Given the description of an element on the screen output the (x, y) to click on. 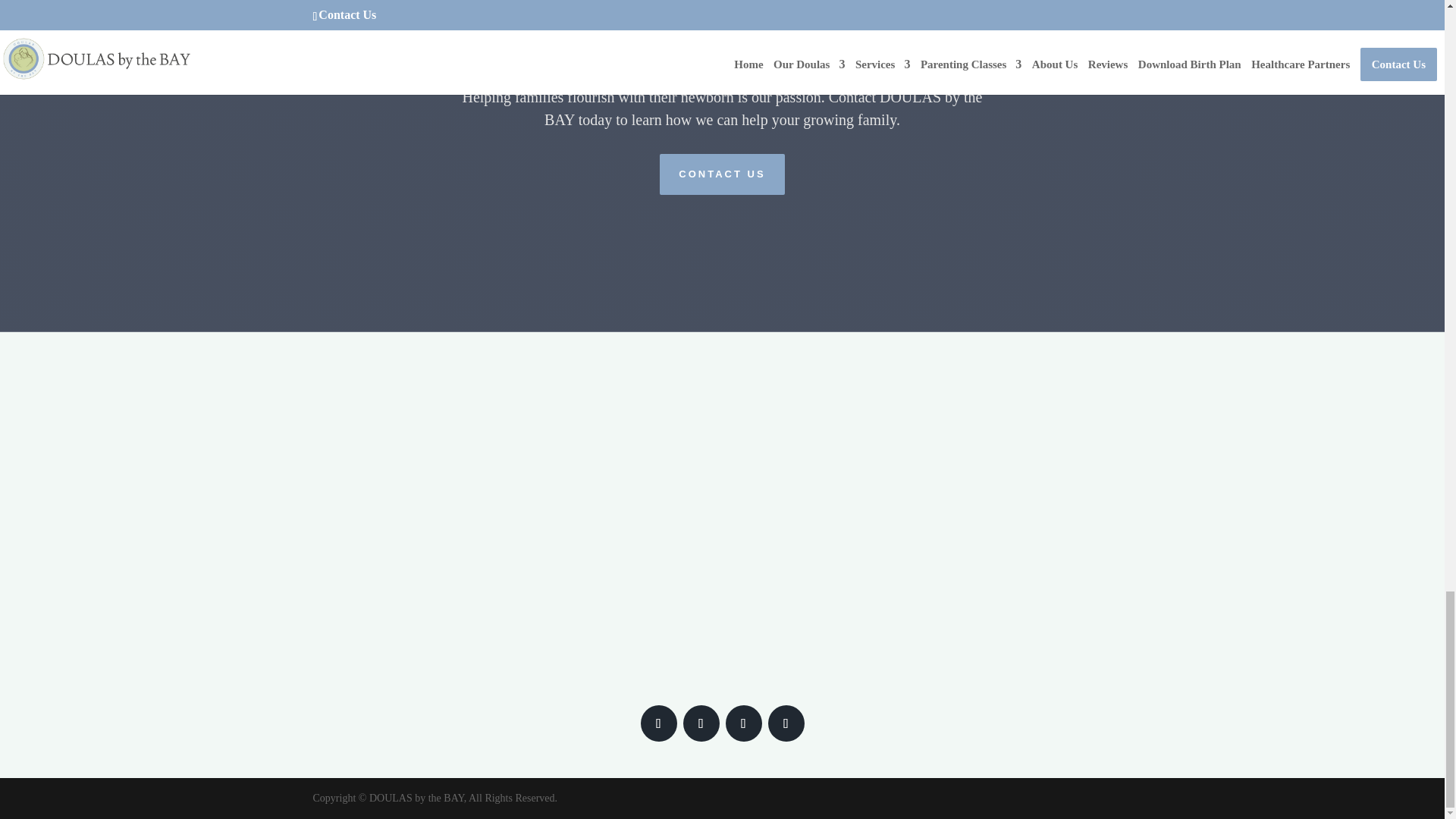
Follow on Facebook (658, 723)
Follow on Instagram (700, 723)
CONTACT US (721, 173)
Follow on TikTok (785, 723)
Follow on Youtube (743, 723)
